Given the description of an element on the screen output the (x, y) to click on. 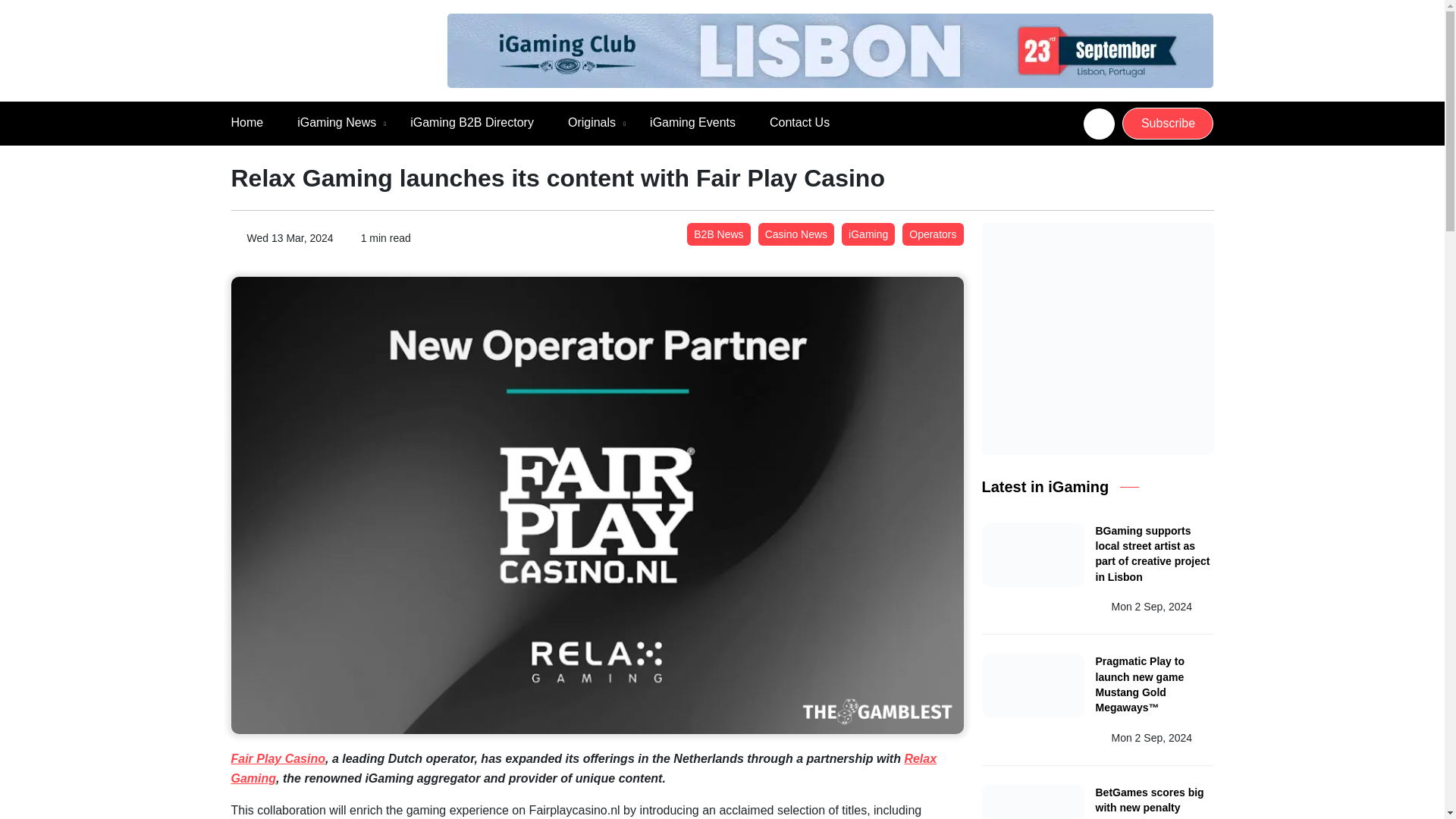
Fair Play Casino (277, 758)
Subscribe (1167, 123)
Originals (591, 123)
Relax Gaming (583, 768)
iGaming (868, 233)
Contact Us (799, 123)
Casino News (796, 233)
Operators (932, 233)
iGaming (868, 233)
IGaming B2B Directory (472, 123)
